Given the description of an element on the screen output the (x, y) to click on. 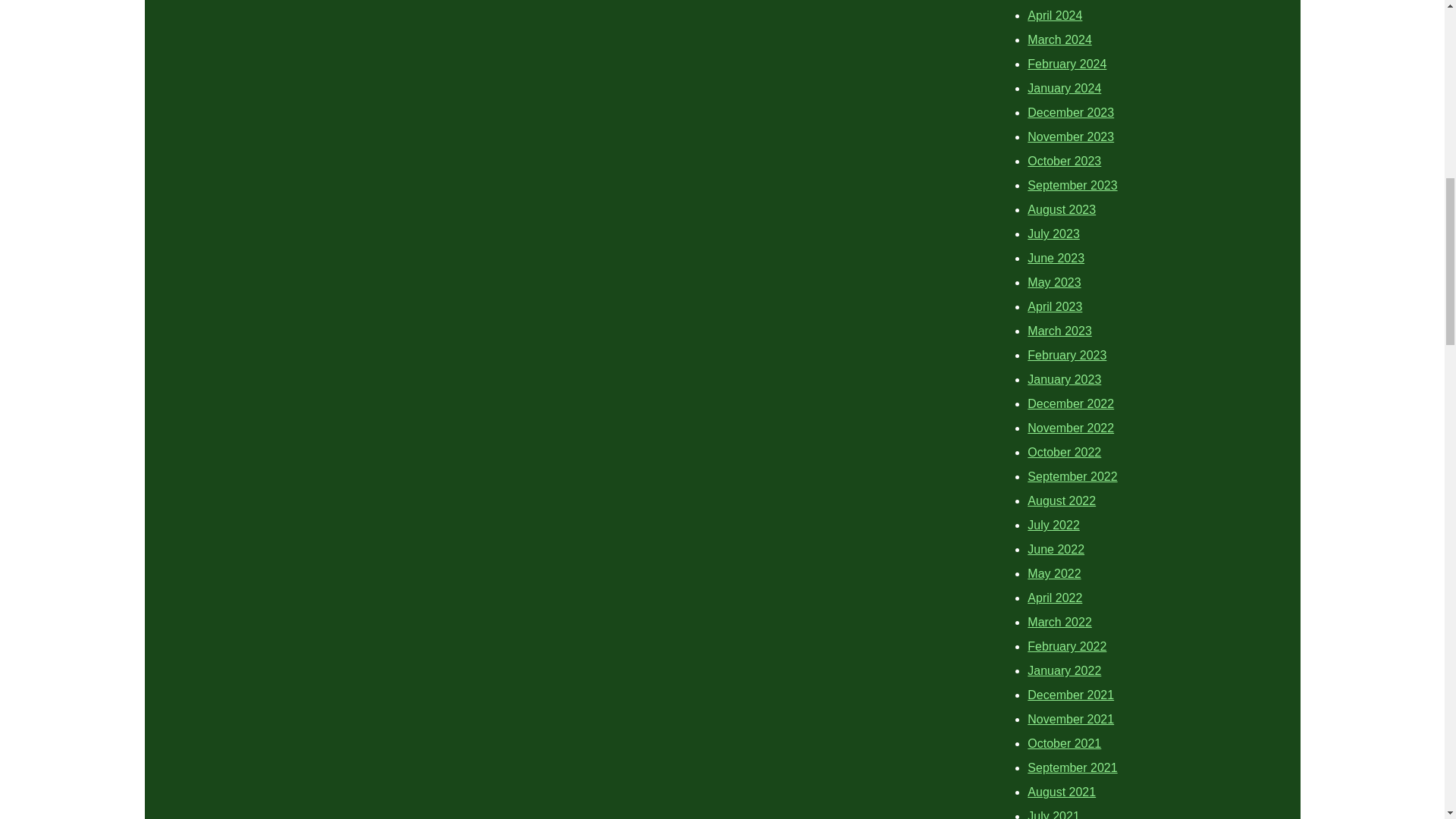
June 2023 (1055, 257)
February 2023 (1066, 354)
July 2023 (1053, 233)
November 2023 (1070, 136)
November 2022 (1070, 427)
September 2023 (1071, 185)
April 2023 (1054, 306)
May 2023 (1053, 282)
February 2024 (1066, 63)
March 2023 (1059, 330)
